Given the description of an element on the screen output the (x, y) to click on. 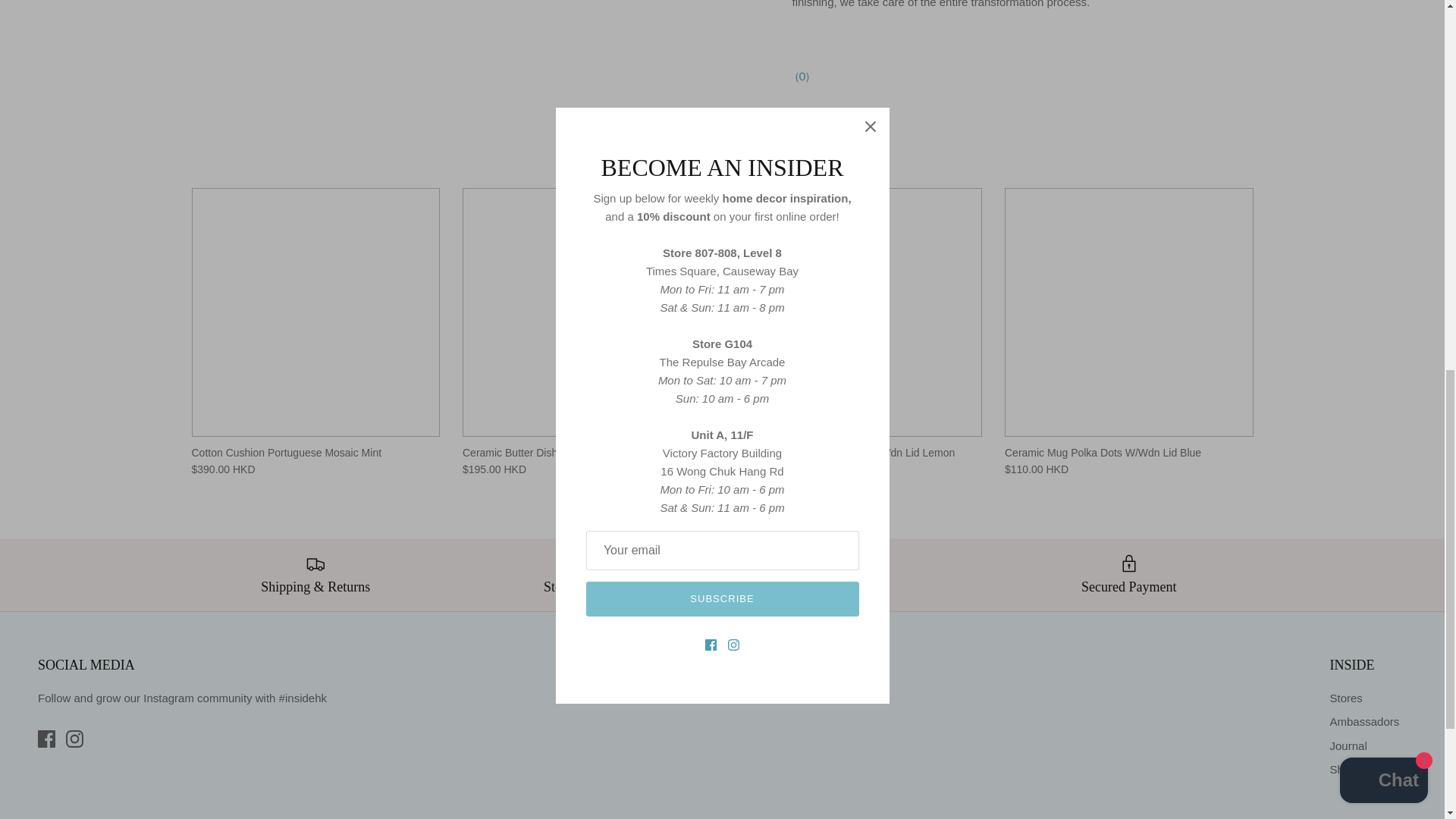
Facebook (46, 738)
reviews (800, 76)
Instagram (73, 738)
